Given the description of an element on the screen output the (x, y) to click on. 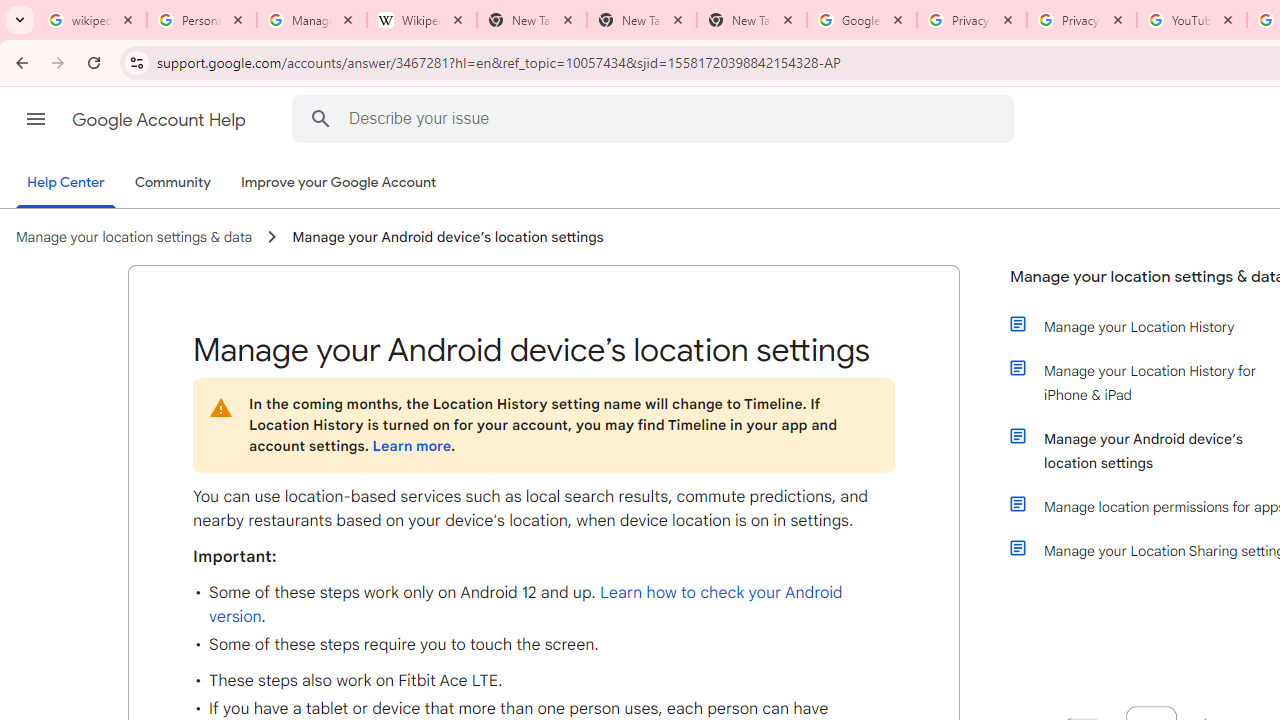
New Tab (752, 20)
Google Account Help (160, 119)
Improve your Google Account (339, 183)
Google Drive: Sign-in (861, 20)
Community (171, 183)
Manage your Location History - Google Search Help (312, 20)
